Given the description of an element on the screen output the (x, y) to click on. 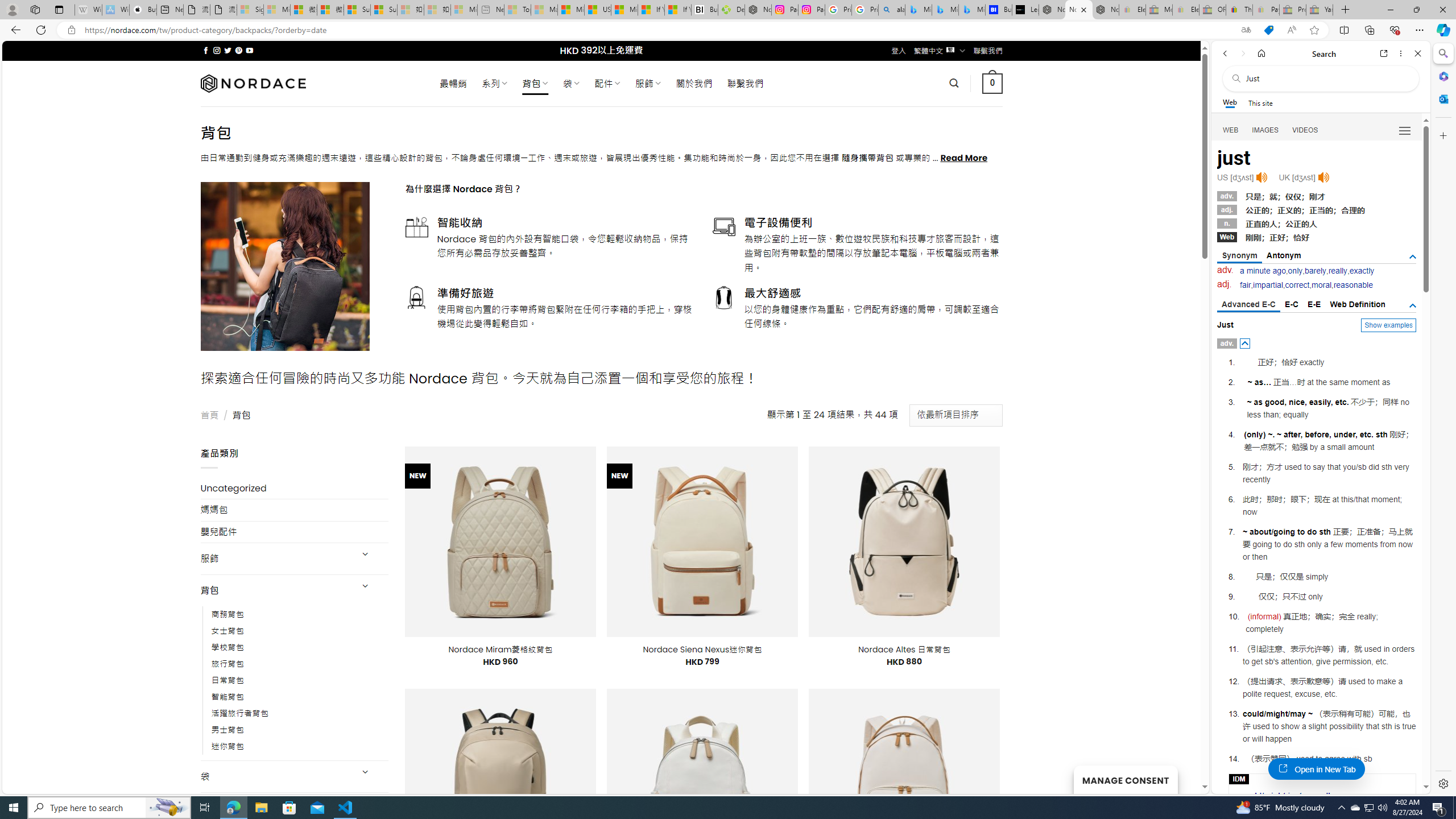
AutomationID: tgsb (1412, 256)
E-E (1314, 304)
alabama high school quarterback dies - Search (891, 9)
Sign in to your Microsoft account - Sleeping (249, 9)
This site has coupons! Shopping in Microsoft Edge (1268, 29)
